Given the description of an element on the screen output the (x, y) to click on. 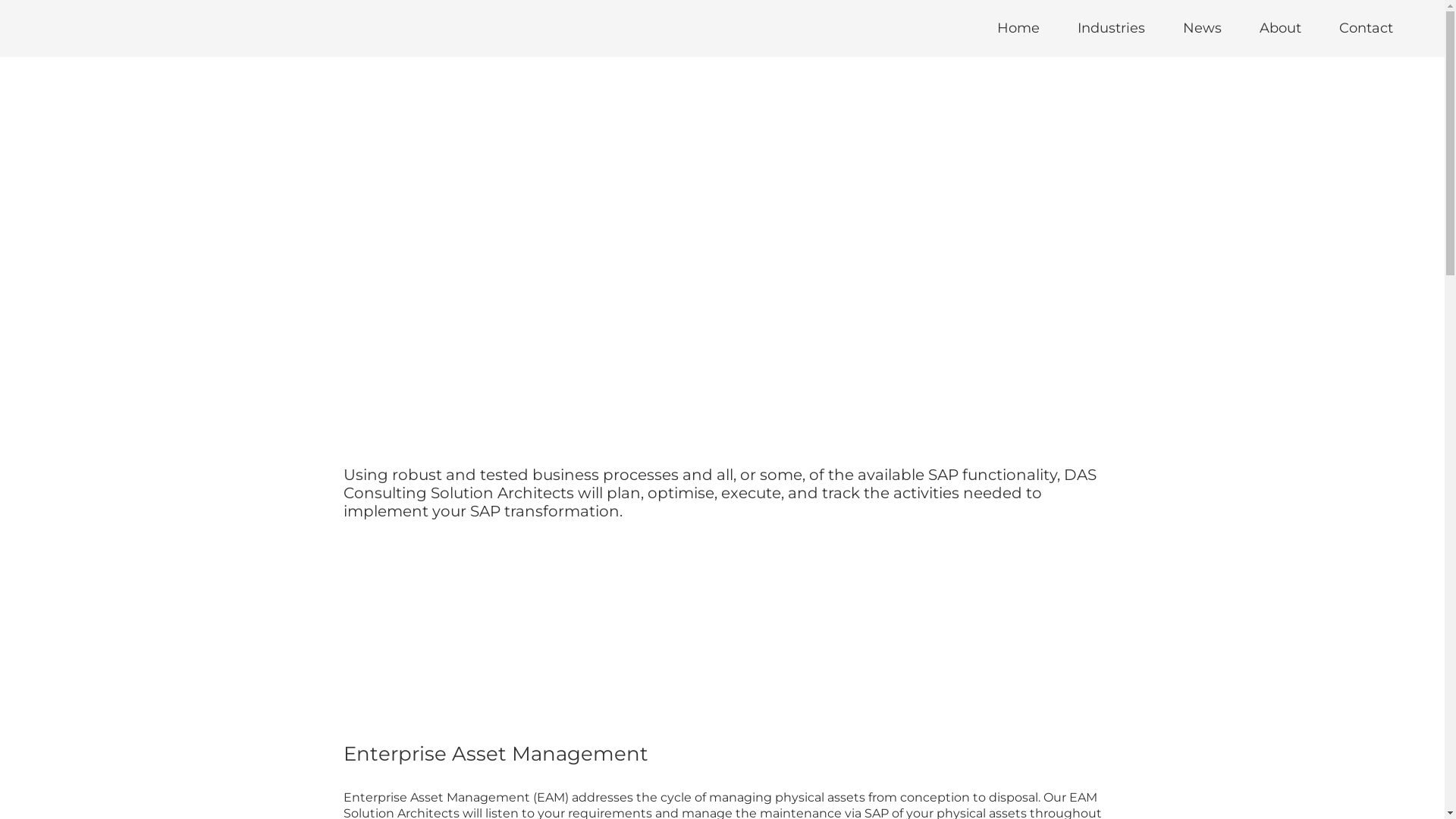
Industries Element type: text (1111, 28)
Contact Element type: text (1365, 28)
Home Element type: text (1018, 28)
About Element type: text (1280, 28)
News Element type: text (1202, 28)
